Given the description of an element on the screen output the (x, y) to click on. 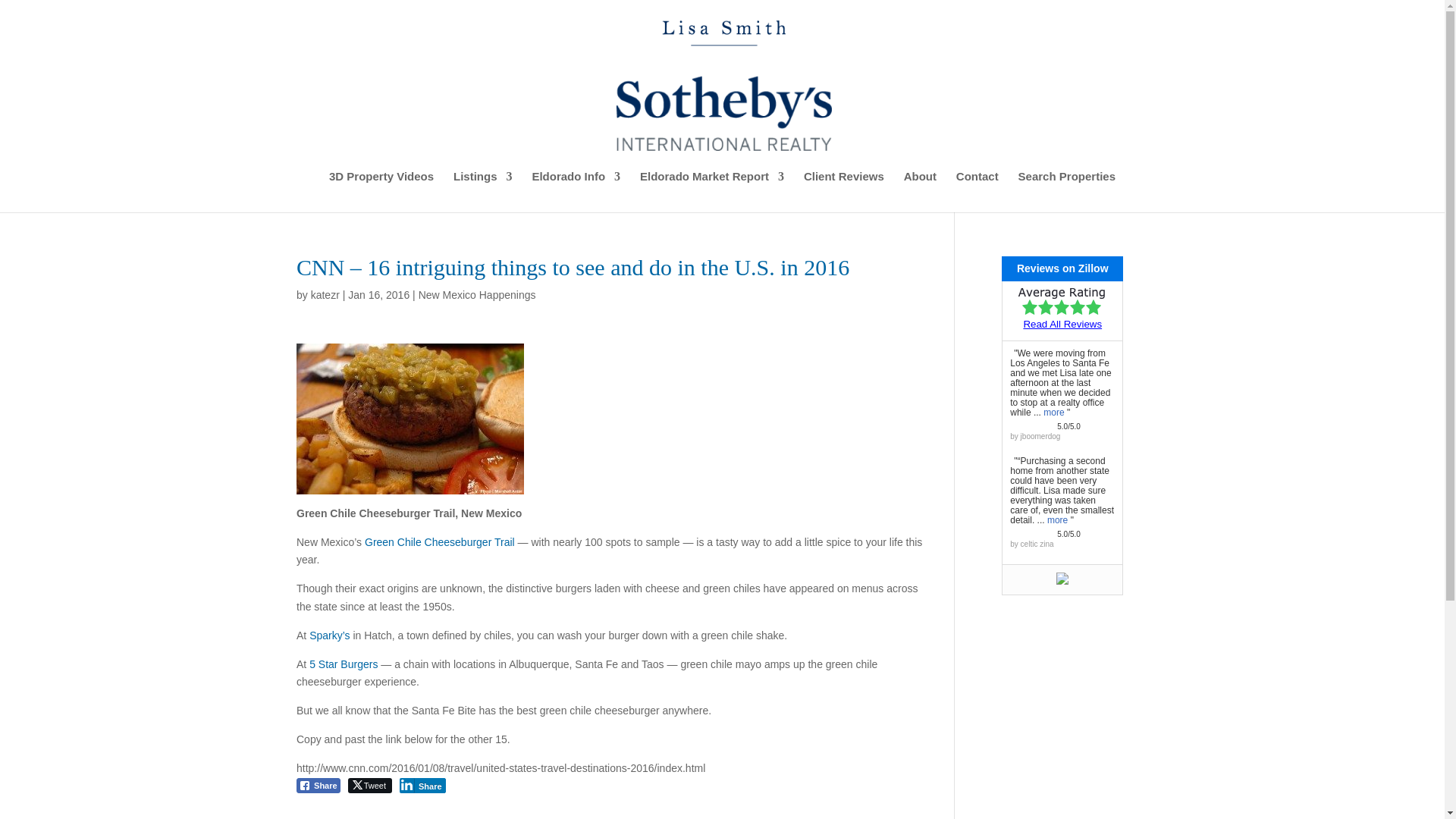
Eldorado Info (575, 191)
Contact (977, 191)
Posts by katezr (325, 295)
Eldorado Market Report (712, 191)
Search Properties (1066, 191)
3D Property Videos (381, 191)
Client Reviews (843, 191)
Listings (482, 191)
